Given the description of an element on the screen output the (x, y) to click on. 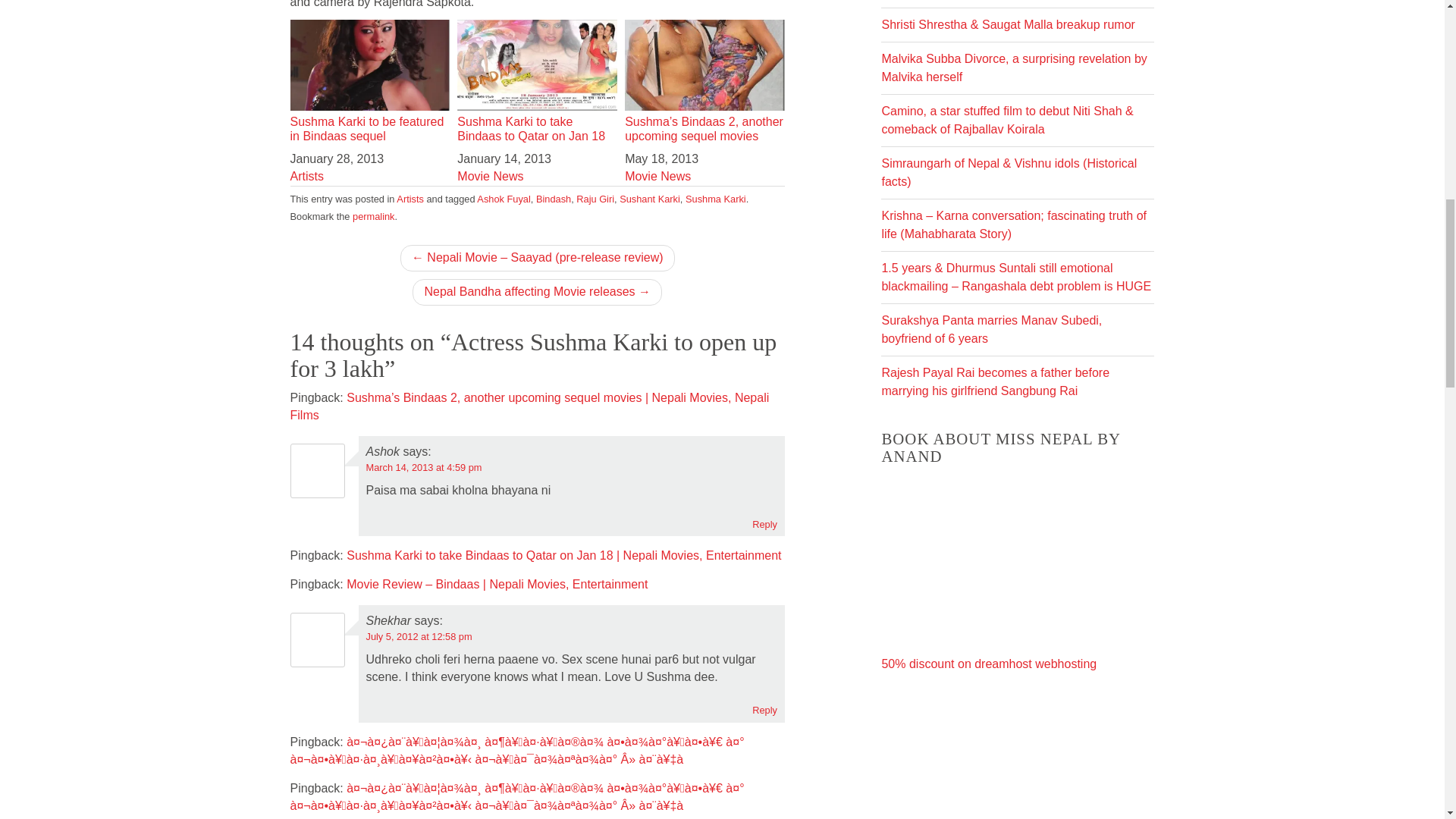
Artists (409, 198)
Sushma Karki to be featured in Bindaas sequel (369, 81)
Ashok Fuyal (503, 198)
Artists (306, 175)
Sushma Karki to take Bindaas to Qatar on Jan 18 (537, 81)
Movie News (657, 175)
Sushma Karki (715, 198)
Reply (764, 523)
July 5, 2012 at 12:58 pm (418, 636)
permalink (373, 215)
